Given the description of an element on the screen output the (x, y) to click on. 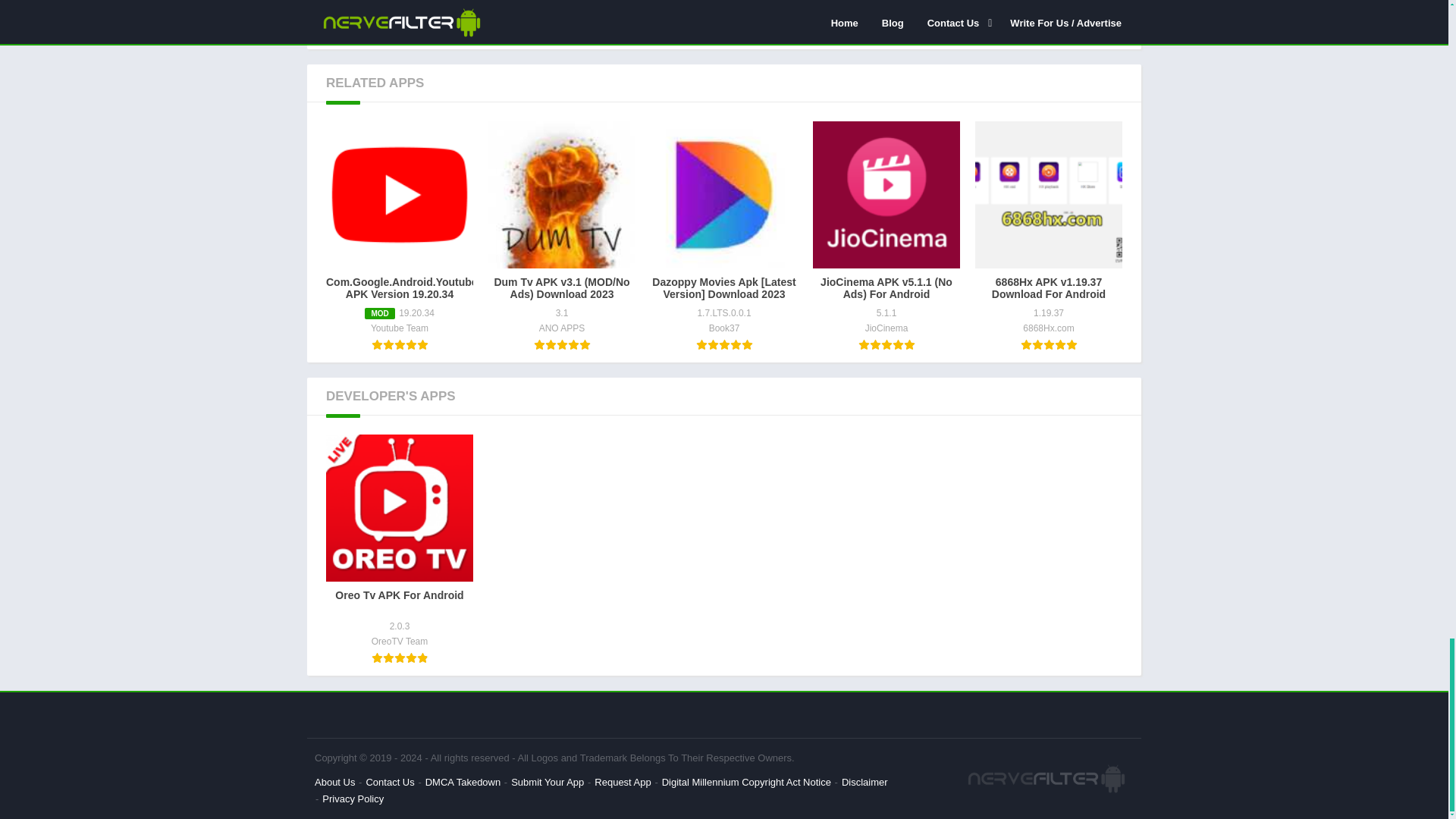
2.0.3 (352, 13)
Submit Your App (547, 781)
About Us (334, 781)
Contact Us (389, 781)
Request App (622, 781)
Digital Millennium Copyright Act Notice (746, 781)
DMCA Takedown (462, 781)
Disclaimer (864, 781)
Privacy Policy (352, 798)
